Given the description of an element on the screen output the (x, y) to click on. 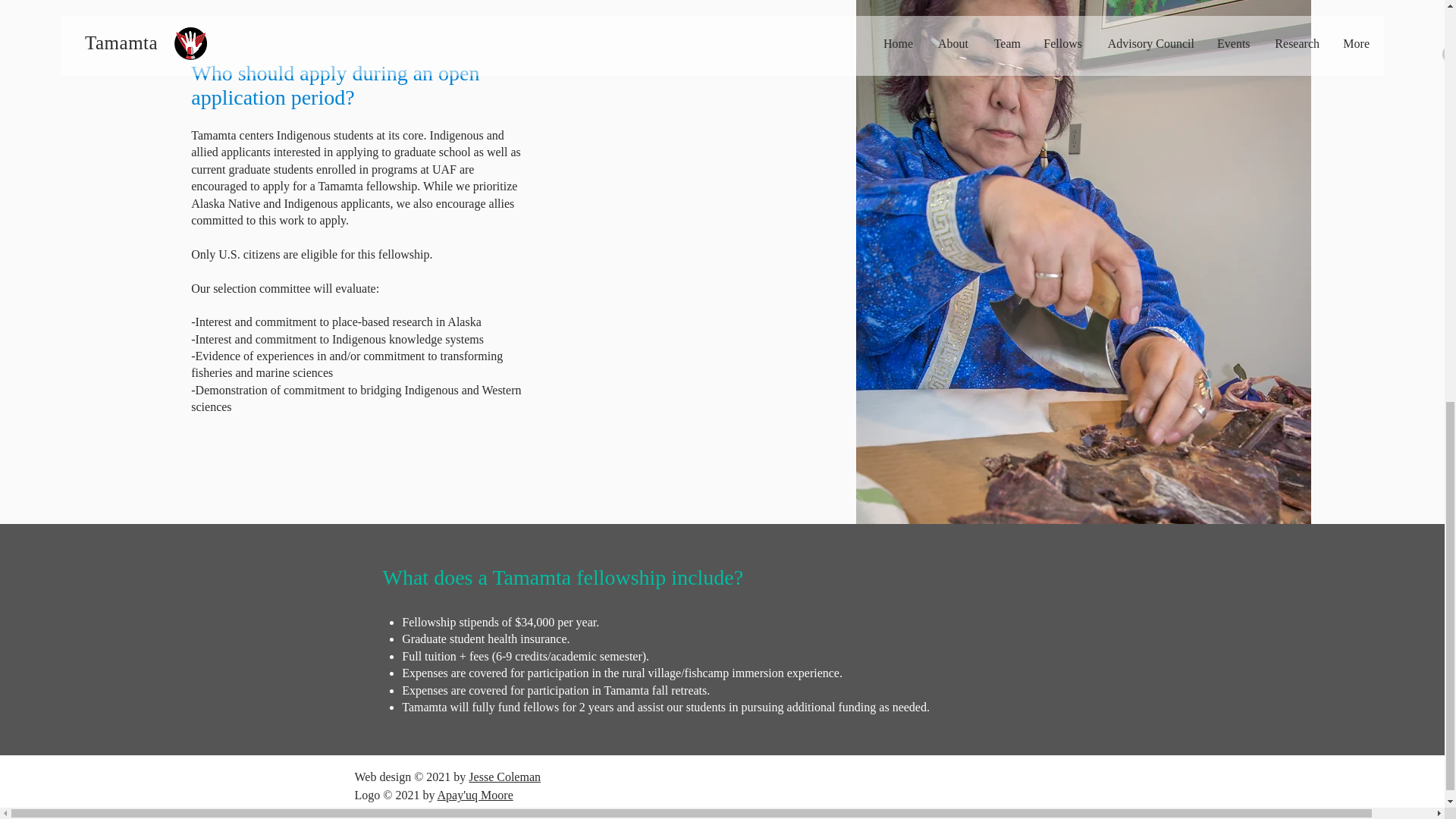
Apay'uq Moore (475, 794)
Jesse Coleman (504, 776)
